Given the description of an element on the screen output the (x, y) to click on. 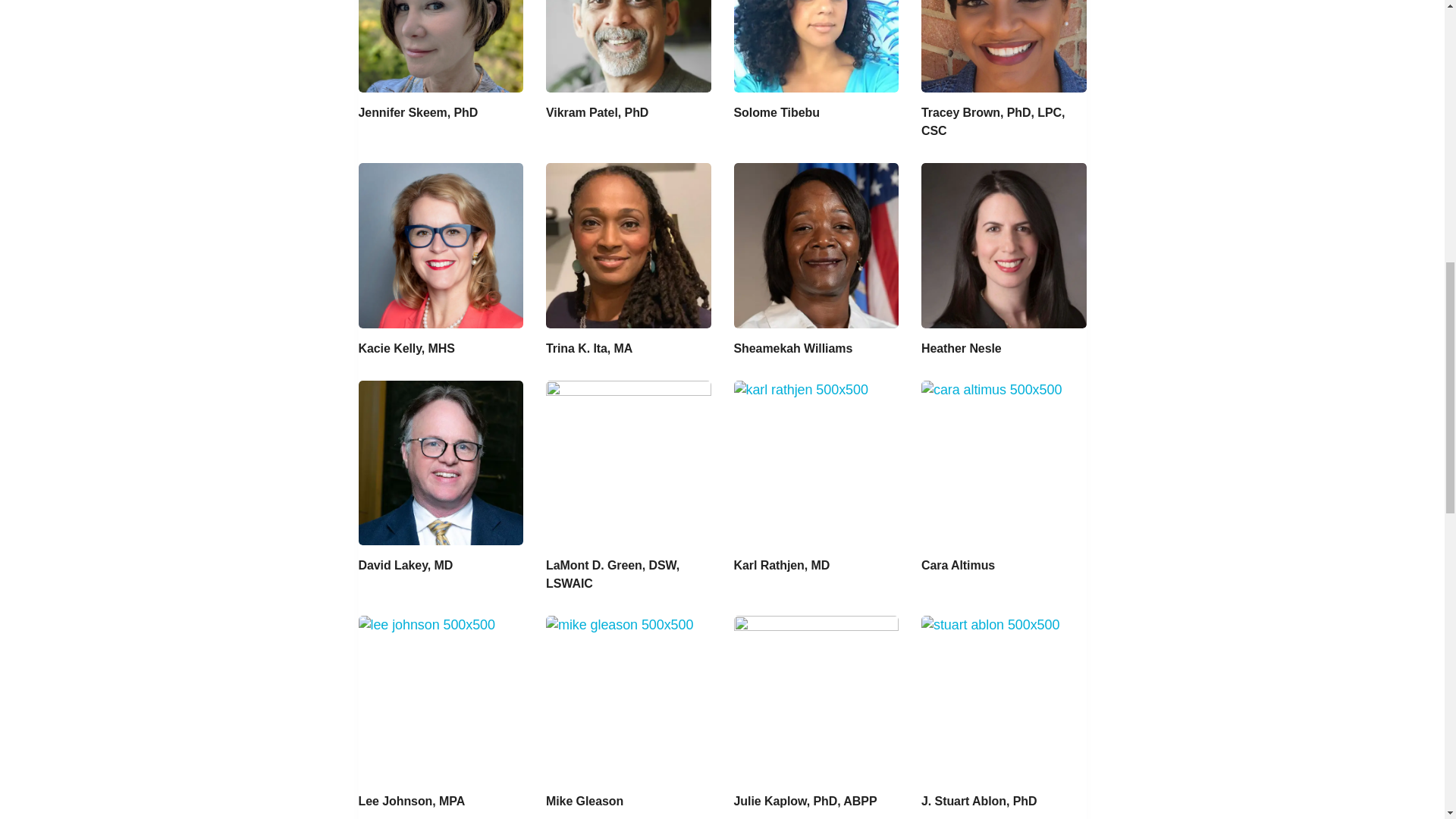
Solome Tibebu (776, 112)
Sheamekah Williams (793, 348)
Cara Altimus (957, 564)
Tracey Brown, PhD, LPC, CSC (992, 121)
Lee Johnson, MPA (411, 800)
Heather Nesle (961, 348)
Trina K. Ita, MA (588, 348)
Jennifer Skeem, PhD (417, 112)
Vikram Patel, PhD (596, 112)
David Lakey, MD (405, 564)
